Given the description of an element on the screen output the (x, y) to click on. 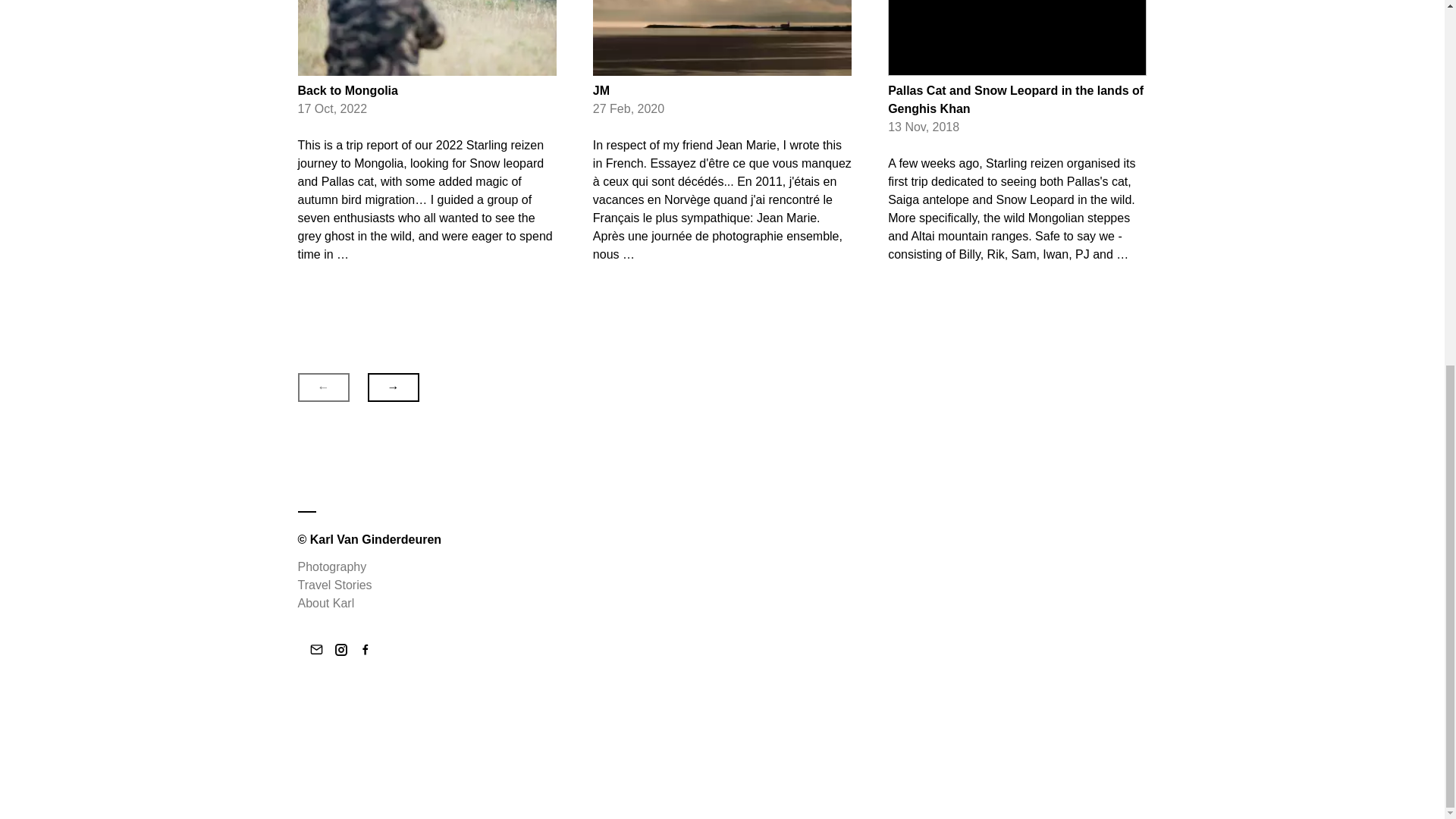
Photography (331, 566)
About Karl (325, 603)
Travel Stories (334, 584)
About Karl (325, 603)
Photography (331, 566)
Travel Stories (334, 584)
